Given the description of an element on the screen output the (x, y) to click on. 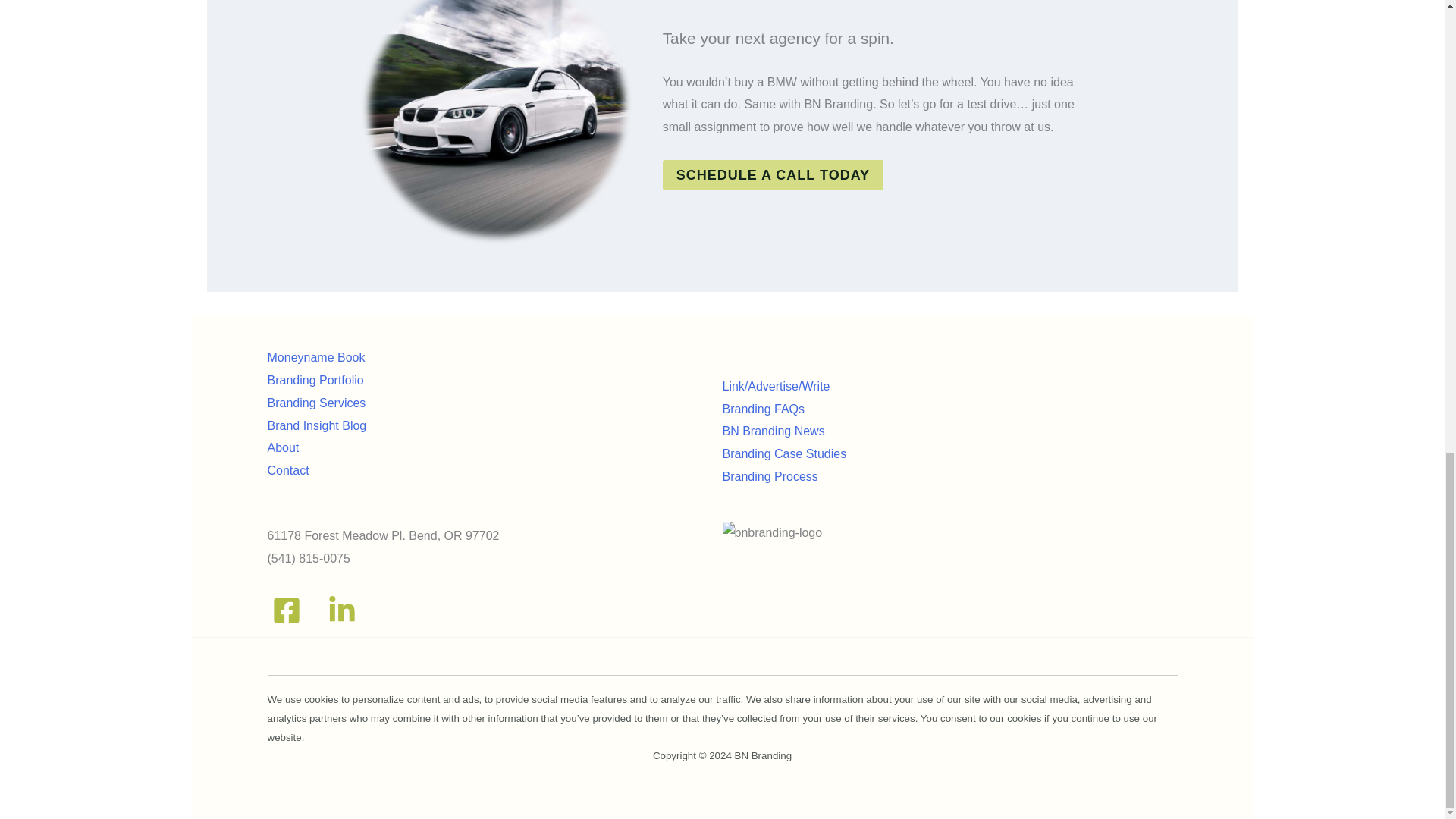
Branding Services (315, 402)
Branding Portfolio (314, 379)
About (282, 447)
Moneyname Book (315, 357)
Brand Insight Blog (316, 424)
SCHEDULE A CALL TODAY (772, 174)
Contact (287, 470)
